Given the description of an element on the screen output the (x, y) to click on. 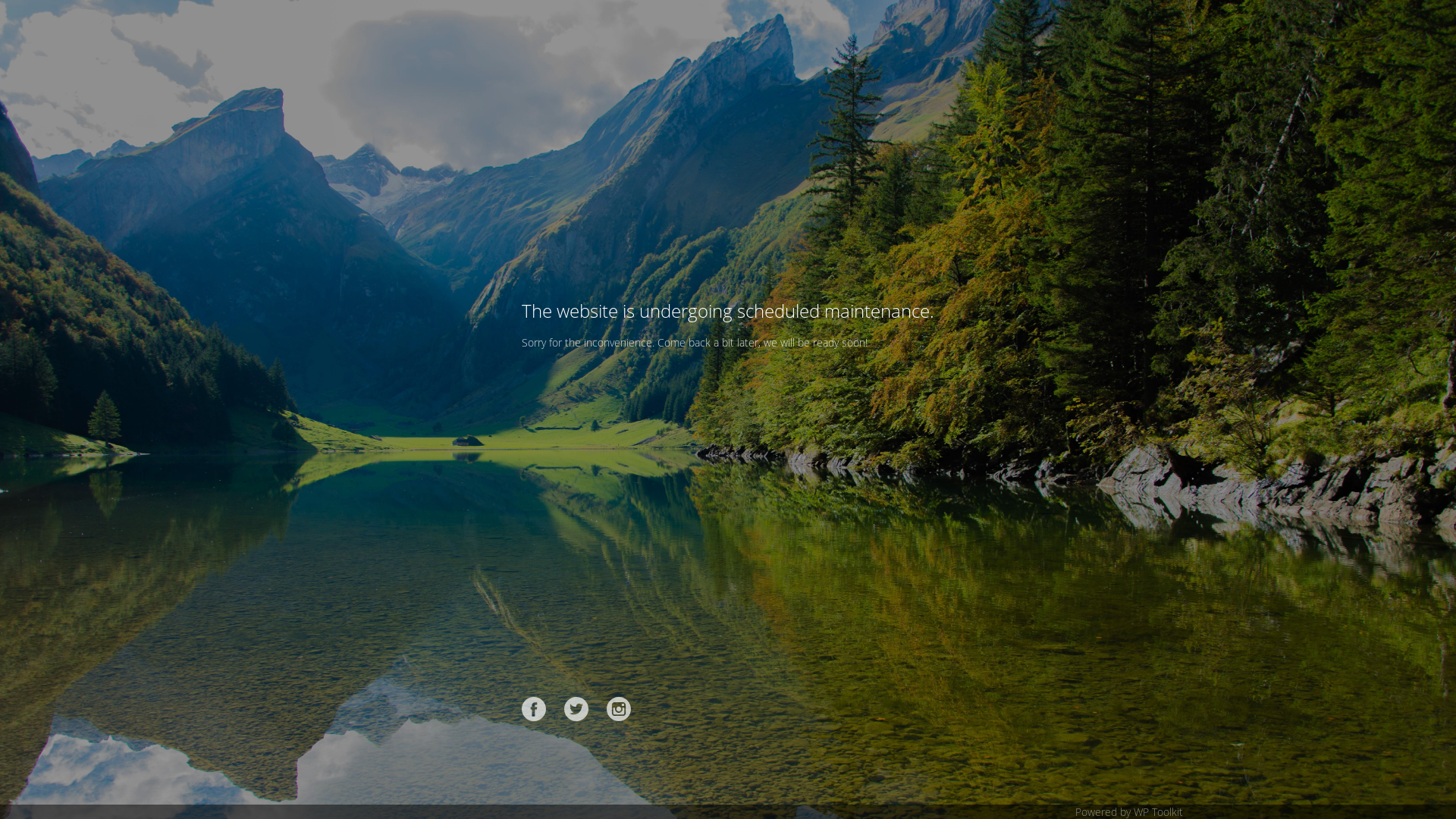
Twitter Element type: hover (576, 708)
Facebook Element type: hover (533, 708)
Instagram Element type: hover (618, 708)
